Given the description of an element on the screen output the (x, y) to click on. 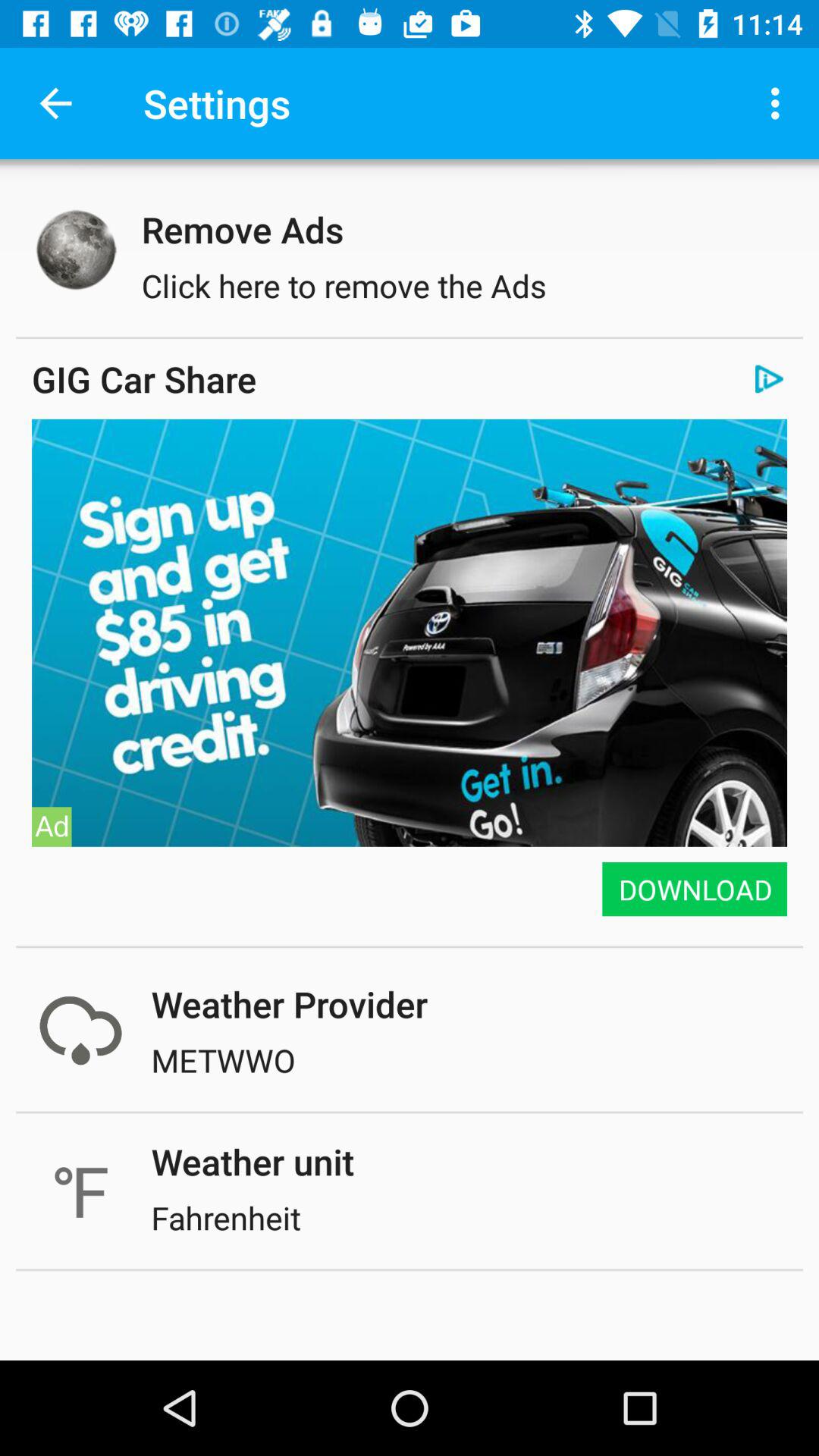
press the item on the right (693, 888)
